Given the description of an element on the screen output the (x, y) to click on. 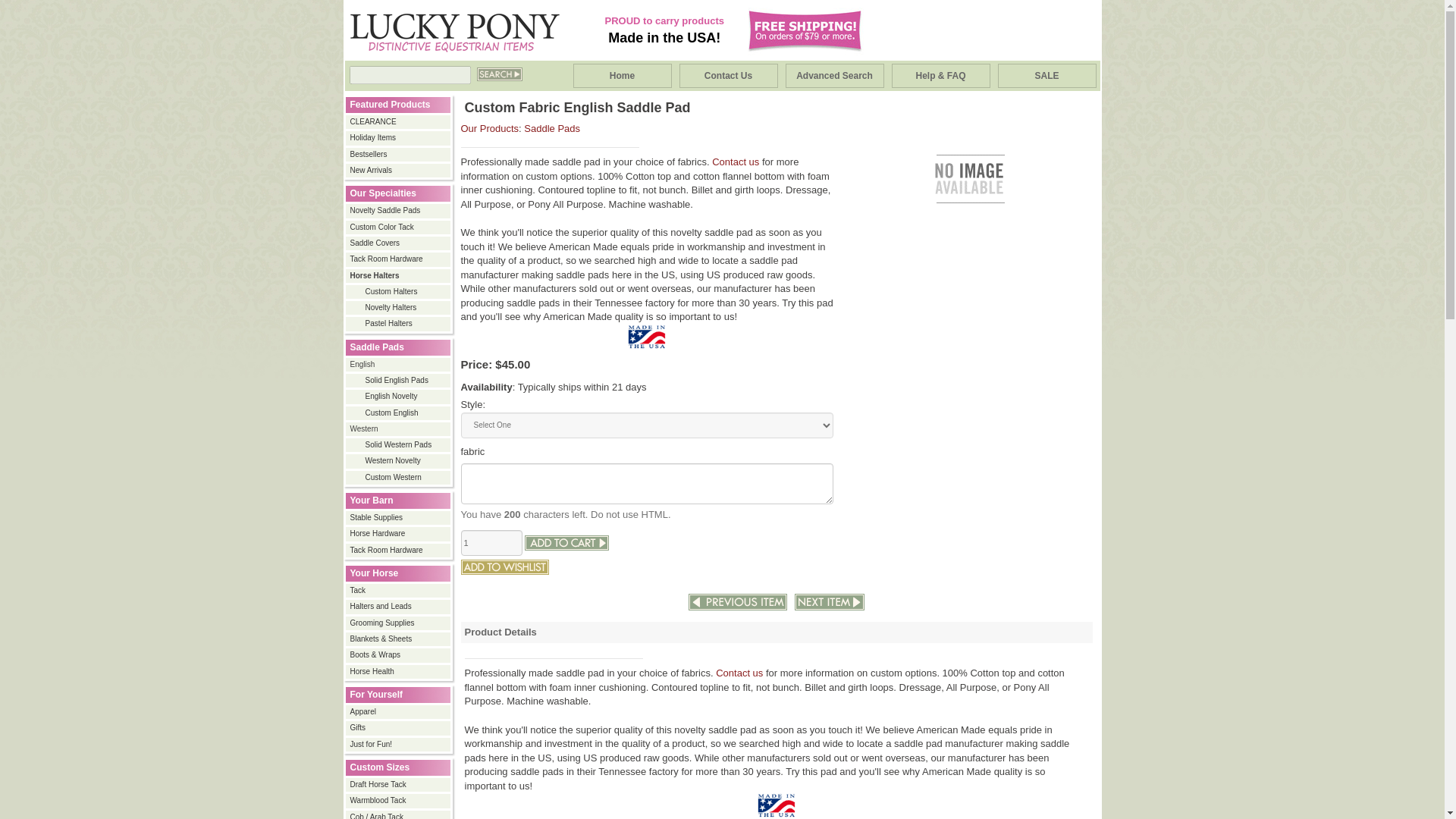
Novelty Halters (399, 307)
Custom Western (399, 477)
Halters and Leads (399, 606)
Pastel Halters (399, 323)
1 (491, 542)
Contact Us (728, 75)
Tack Room Hardware (399, 550)
New Arrivals (399, 170)
Novelty Saddle Pads (399, 210)
Home (622, 75)
Custom Halters (399, 291)
Stable Supplies (399, 517)
Horse Hardware (399, 533)
Grooming Supplies (399, 623)
Custom English (399, 412)
